Given the description of an element on the screen output the (x, y) to click on. 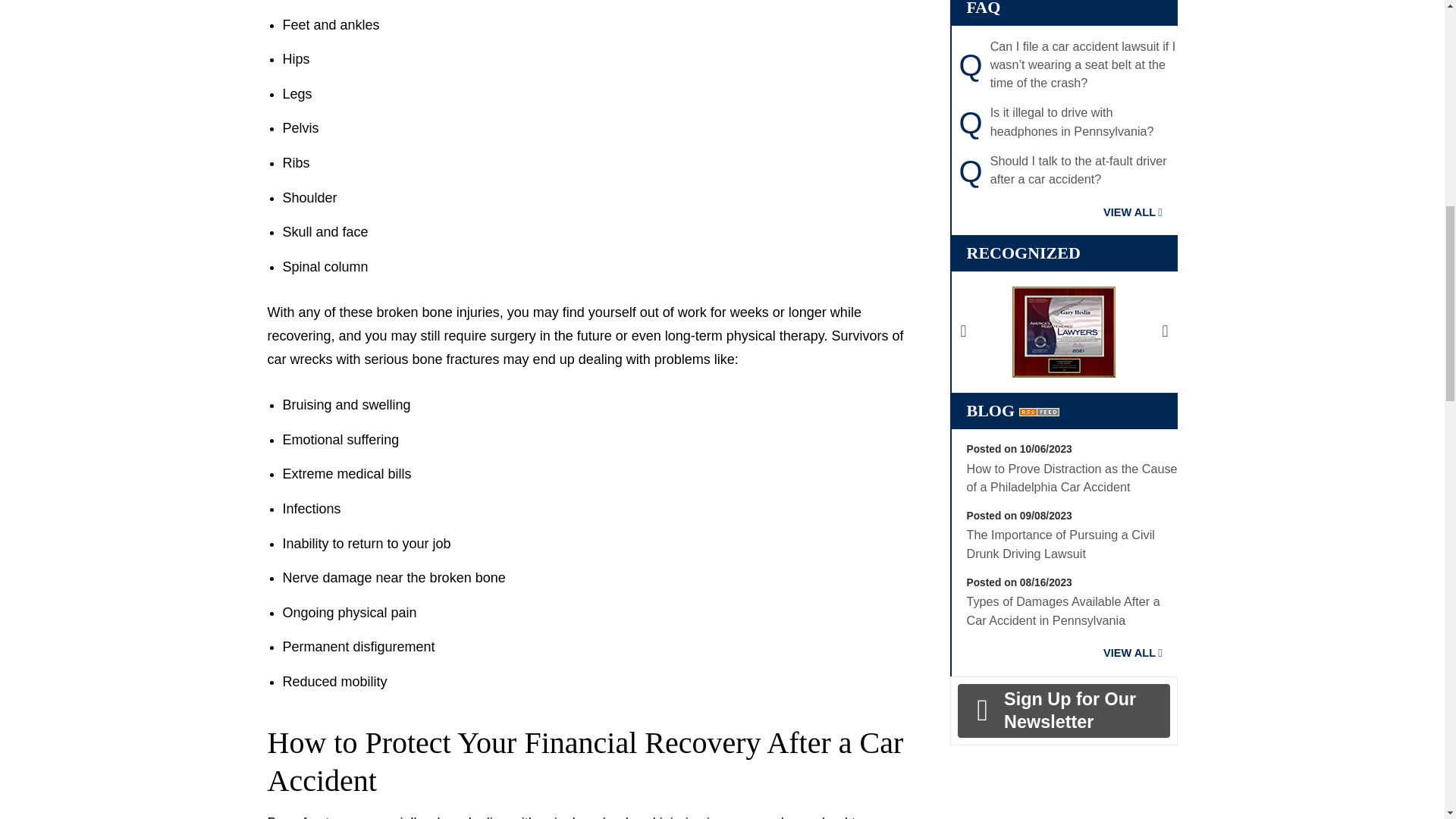
Subscribe to our RSS Feed (1039, 410)
